Given the description of an element on the screen output the (x, y) to click on. 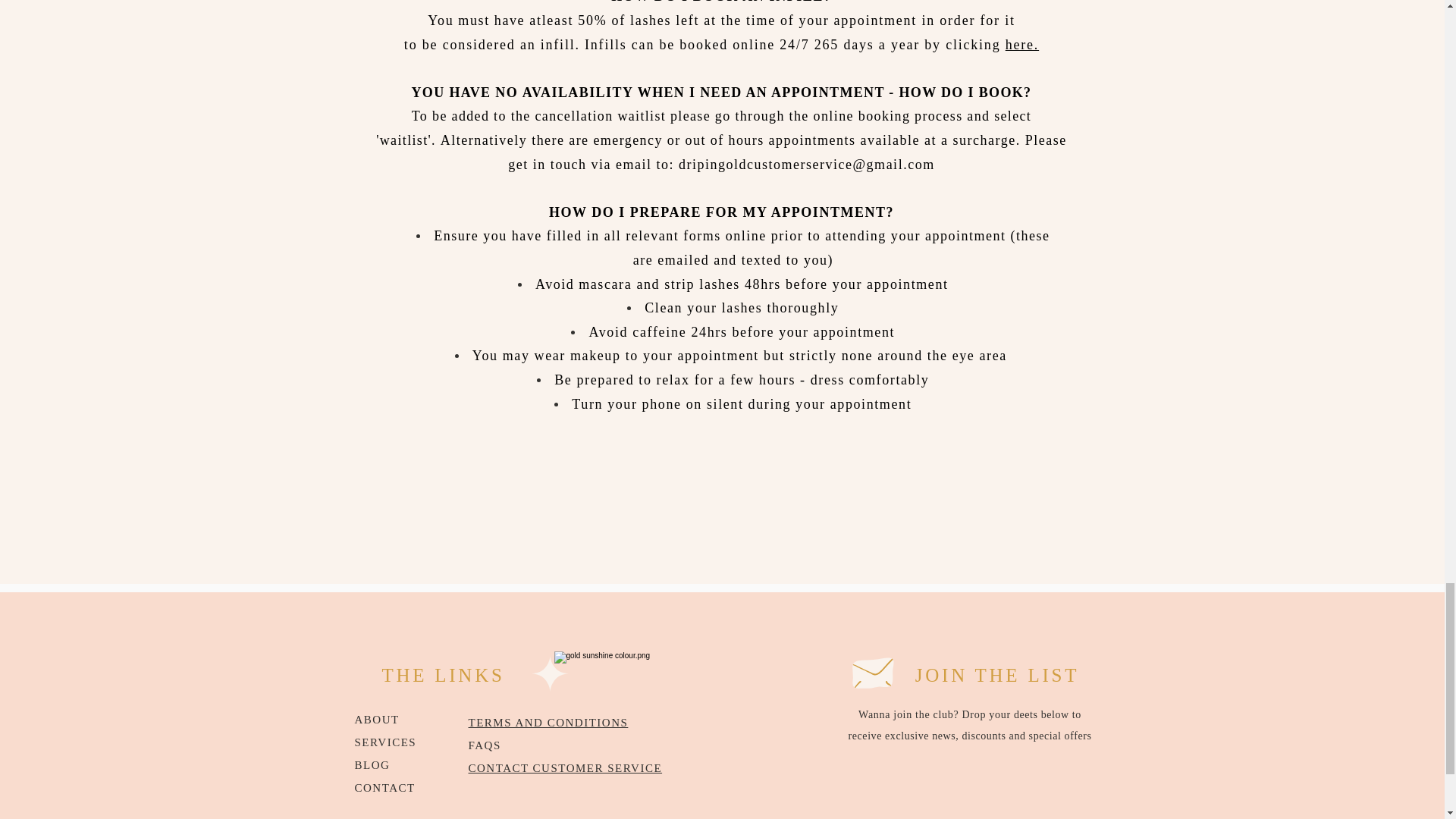
ABOUT (376, 719)
CONTACT CUSTOMER SERVICE (565, 767)
FAQS (484, 745)
BLOG (372, 765)
TERMS AND CONDITIONS (548, 722)
CONTACT (384, 787)
here. (1022, 44)
SERVICES (385, 742)
